Given the description of an element on the screen output the (x, y) to click on. 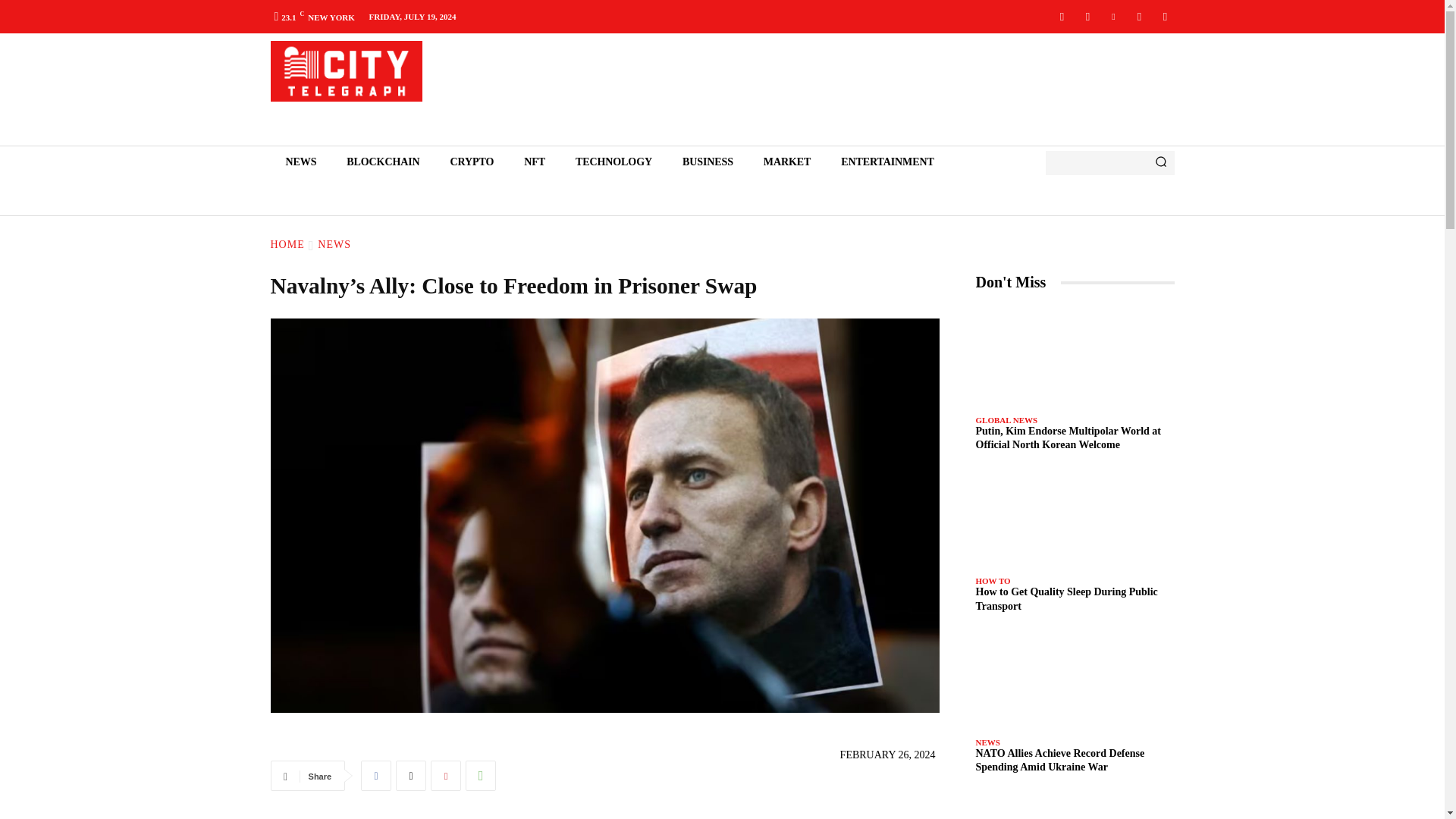
NEWS (333, 244)
Twitter (1164, 16)
BUSINESS (707, 162)
HOME (286, 244)
Instagram (1087, 16)
View all posts in News (333, 244)
Twitter (411, 775)
WhatsApp (480, 775)
TECHNOLOGY (613, 162)
Facebook (1061, 16)
MARKET (786, 162)
ENTERTAINMENT (887, 162)
BLOCKCHAIN (382, 162)
NEWS (300, 162)
Pinterest (445, 775)
